Given the description of an element on the screen output the (x, y) to click on. 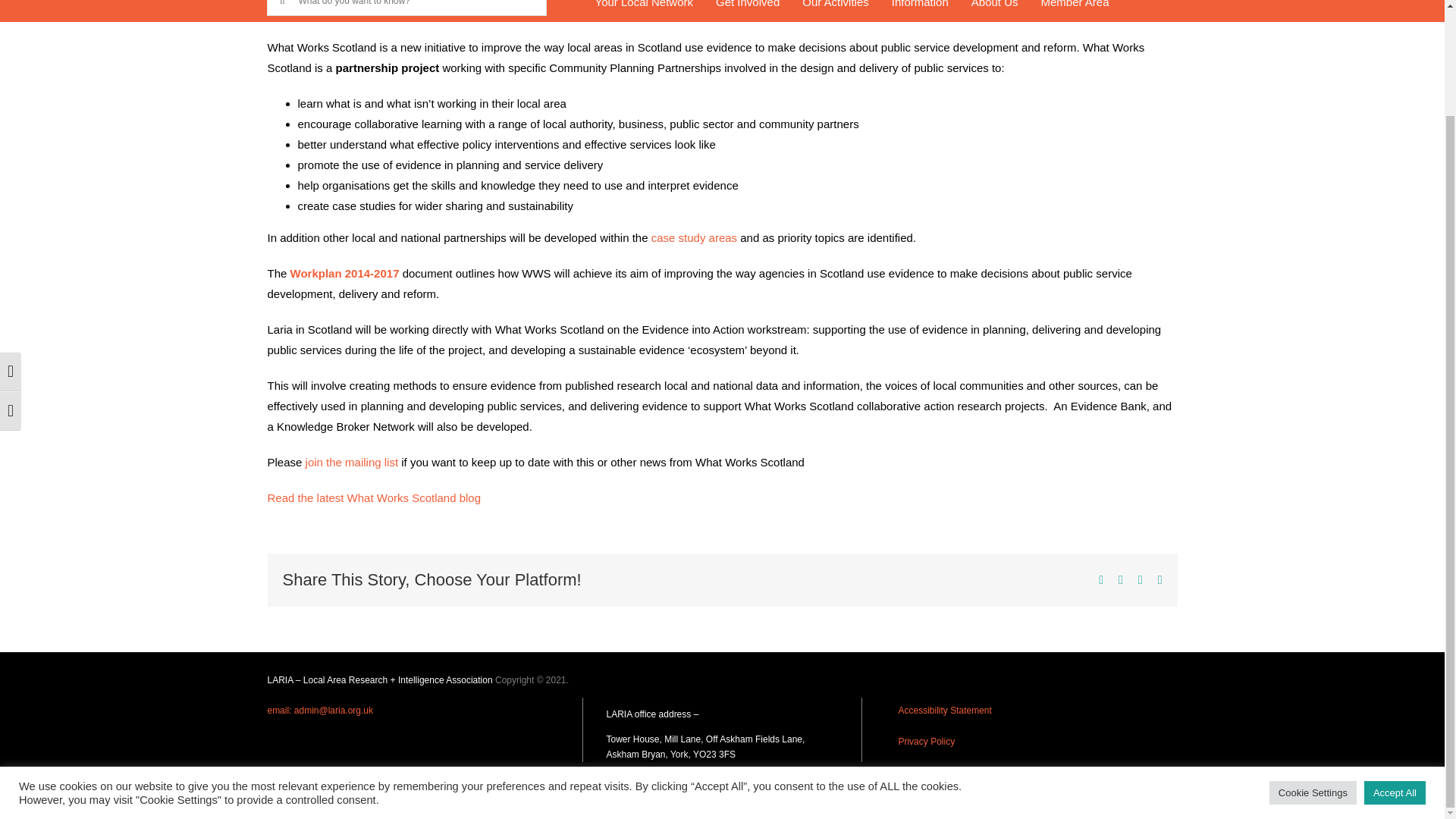
About Us (994, 12)
Toggle Font size (10, 286)
Toggle High Contrast (10, 246)
Our Activities (835, 12)
Your Local Network (643, 12)
Get Involved (747, 12)
Information (919, 12)
